Given the description of an element on the screen output the (x, y) to click on. 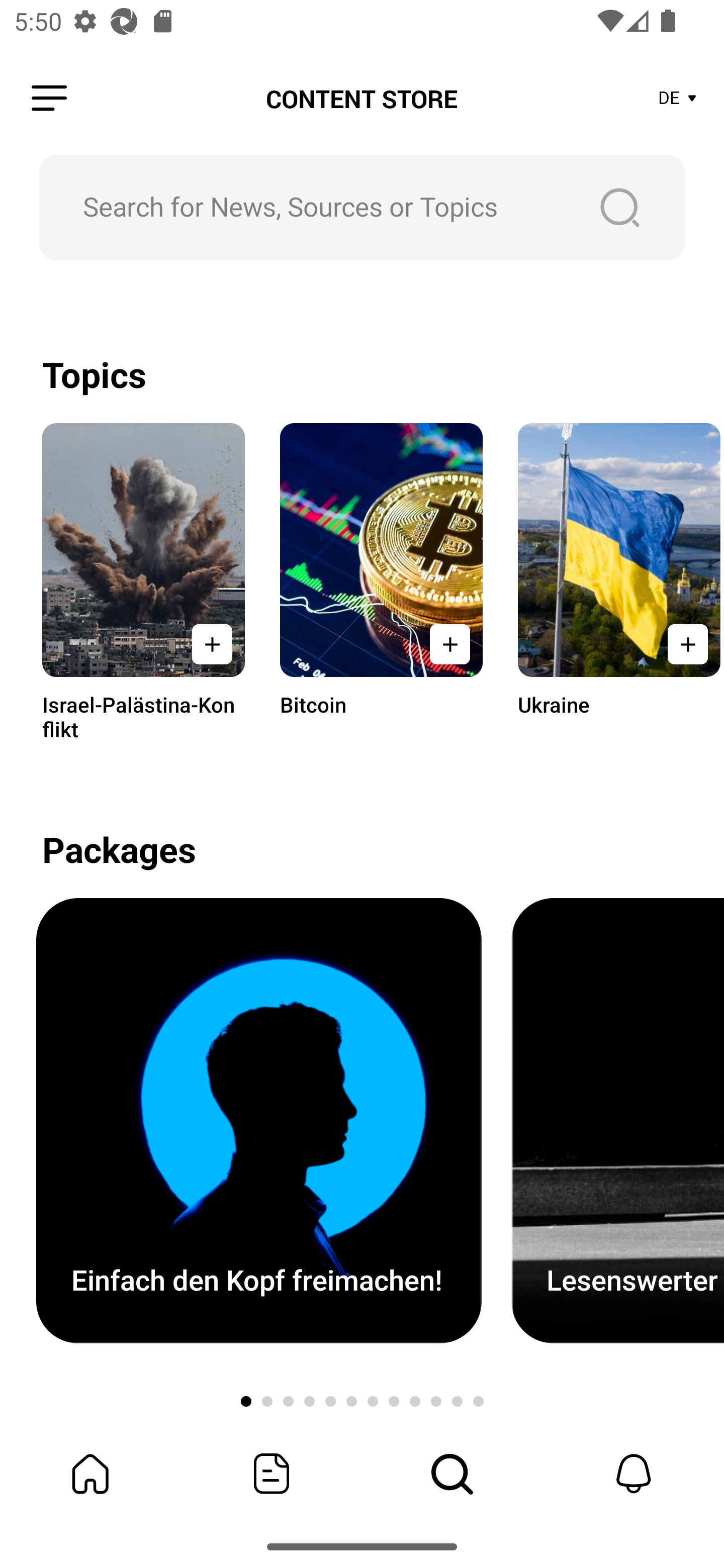
DE Store Area (677, 98)
Leading Icon (49, 98)
Search for News, Sources or Topics Search Button (361, 207)
Add To My Bundle (212, 644)
Add To My Bundle (449, 644)
Add To My Bundle (684, 644)
My Bundle (90, 1473)
Featured (271, 1473)
Notifications (633, 1473)
